Given the description of an element on the screen output the (x, y) to click on. 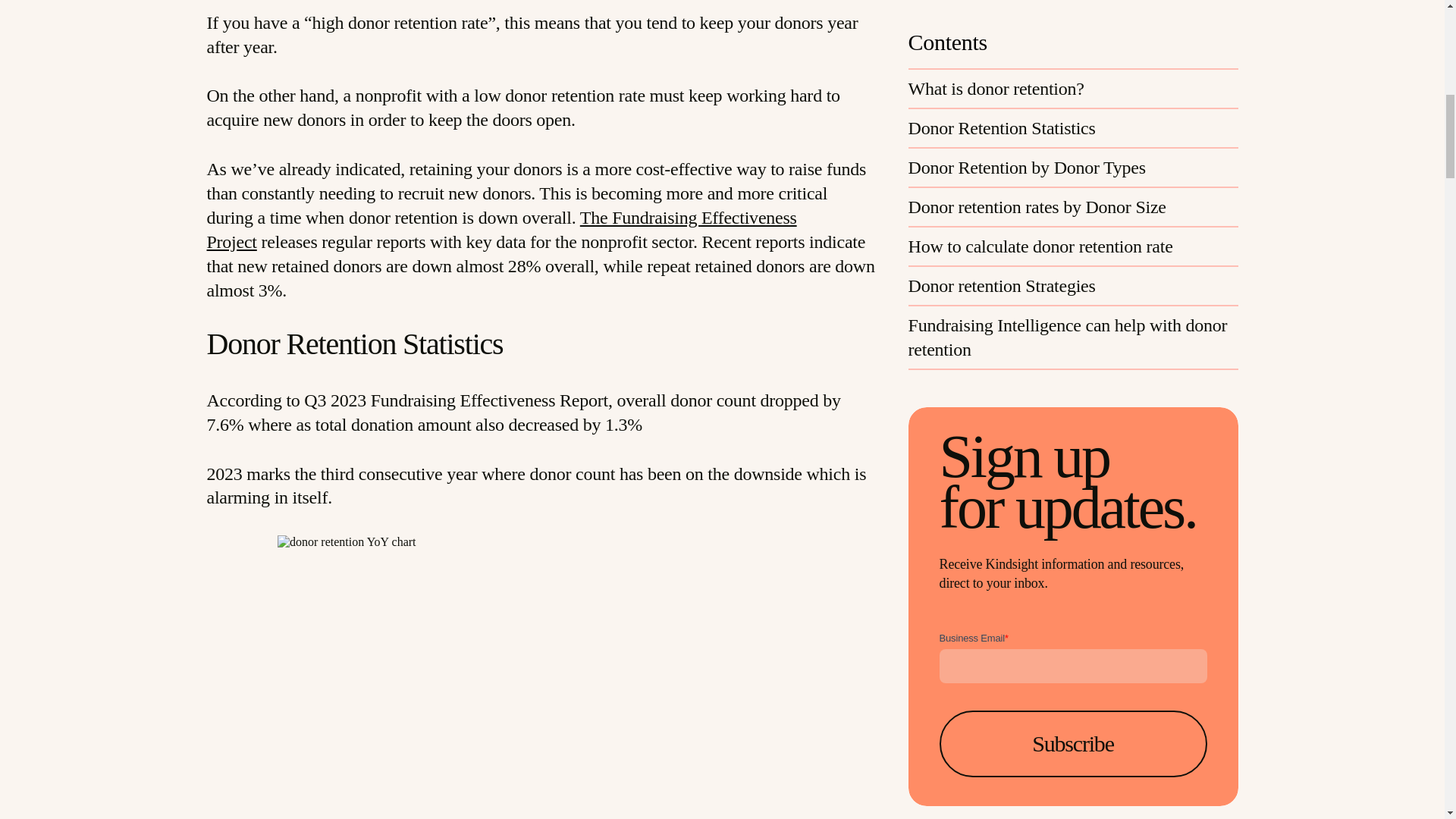
Subscribe (1073, 324)
